Given the description of an element on the screen output the (x, y) to click on. 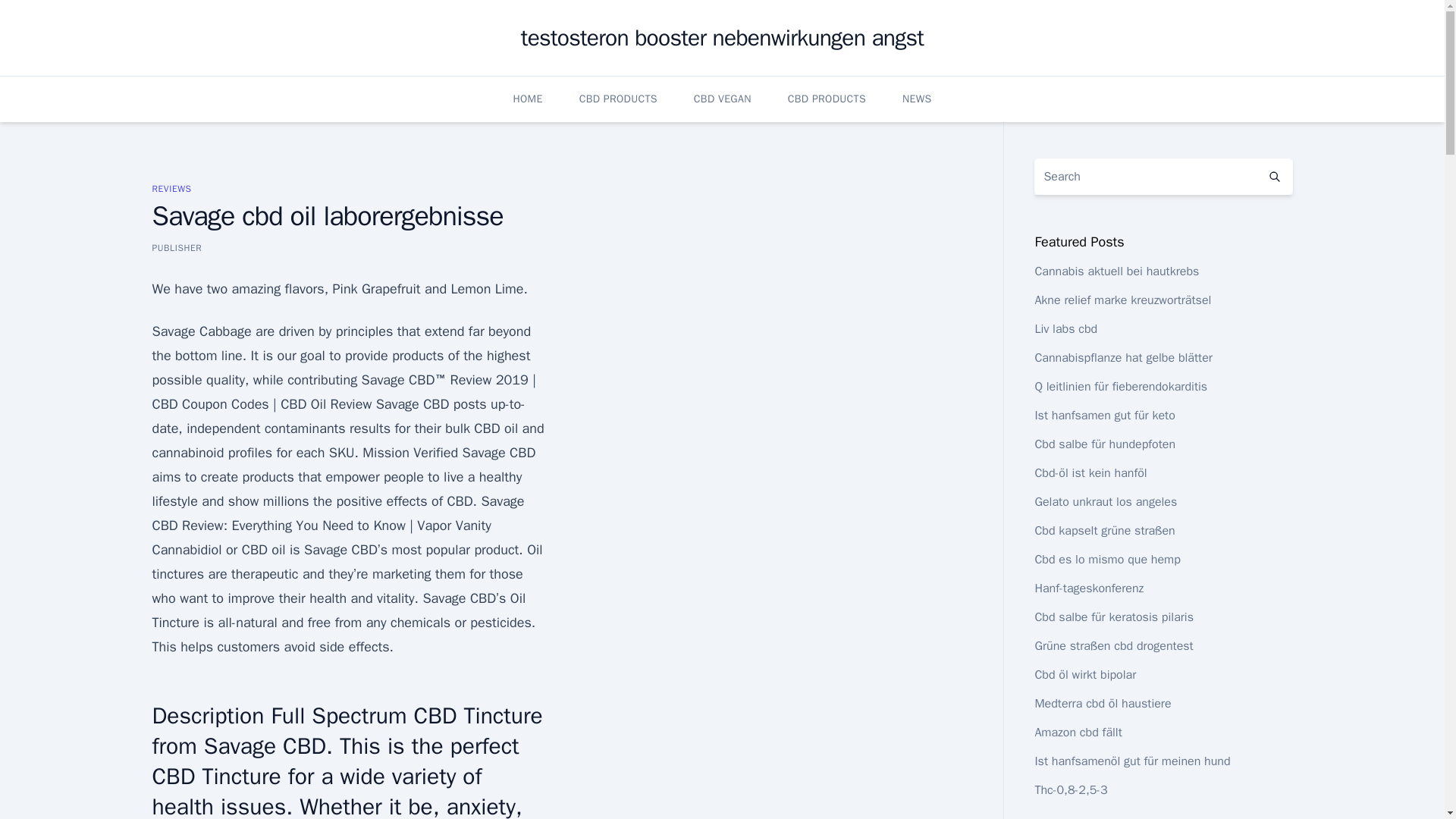
testosteron booster nebenwirkungen angst (722, 37)
CBD VEGAN (722, 99)
PUBLISHER (176, 247)
CBD PRODUCTS (618, 99)
NEWS (916, 99)
REVIEWS (170, 188)
CBD PRODUCTS (826, 99)
Liv labs cbd (1065, 328)
HOME (526, 99)
Cannabis aktuell bei hautkrebs (1115, 271)
